Given the description of an element on the screen output the (x, y) to click on. 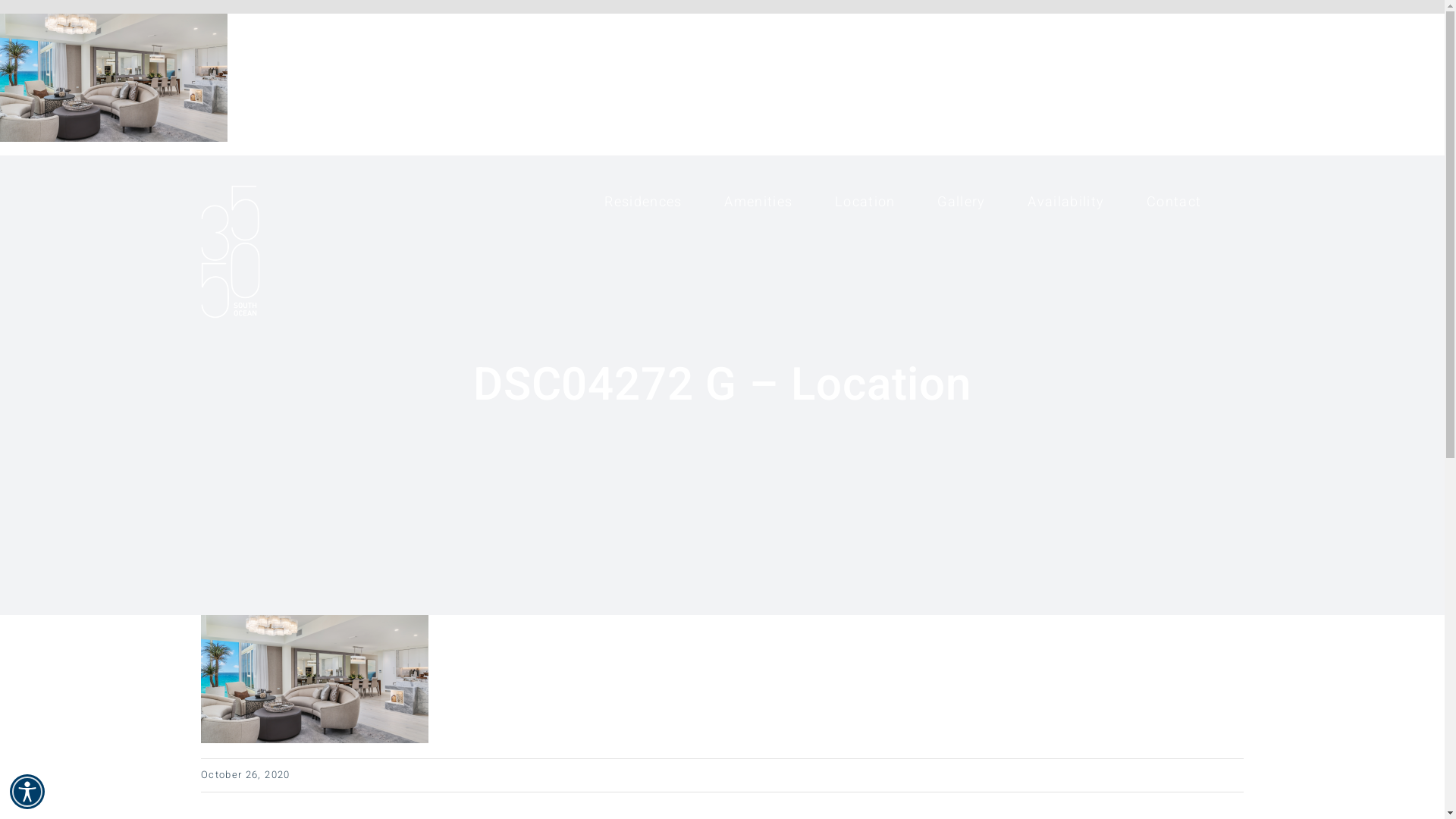
Location Element type: text (864, 202)
Gallery Element type: text (961, 202)
Contact Element type: text (1173, 202)
Availability Element type: text (1065, 202)
Residences Element type: text (643, 202)
Amenities Element type: text (758, 202)
